Given the description of an element on the screen output the (x, y) to click on. 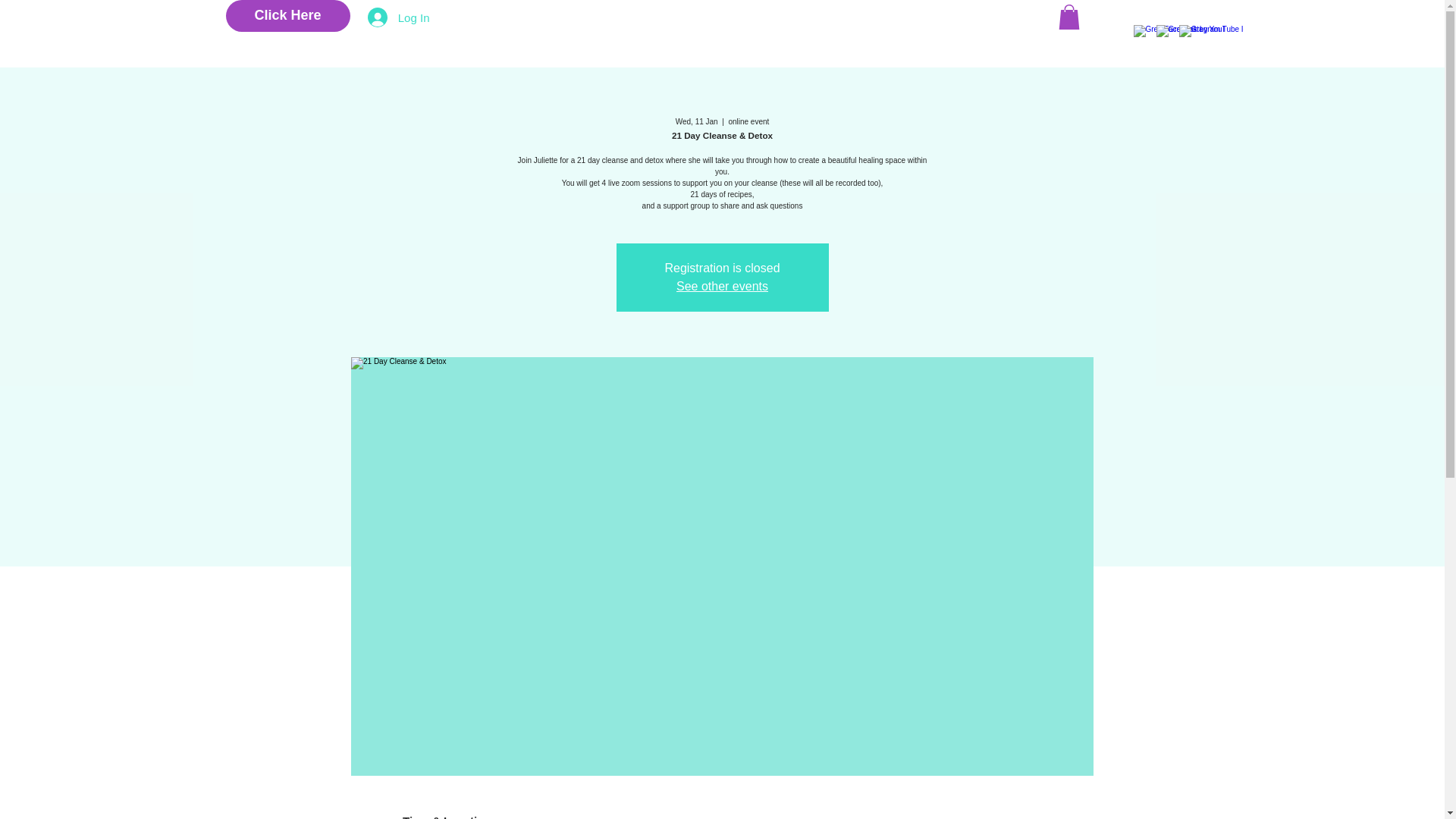
Log In (398, 17)
Click Here (287, 15)
See other events (722, 286)
